Given the description of an element on the screen output the (x, y) to click on. 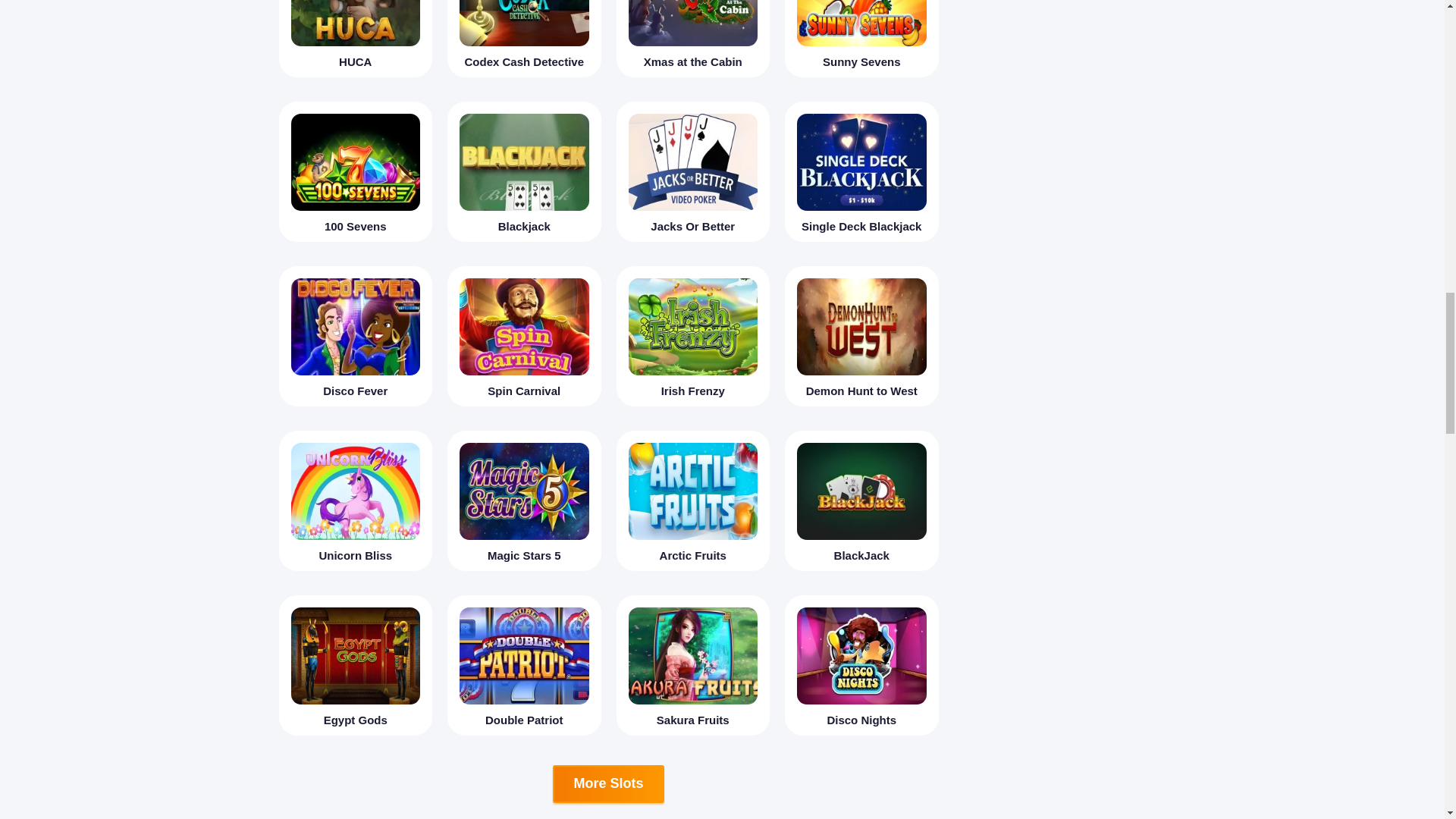
HUCA (355, 38)
